Given the description of an element on the screen output the (x, y) to click on. 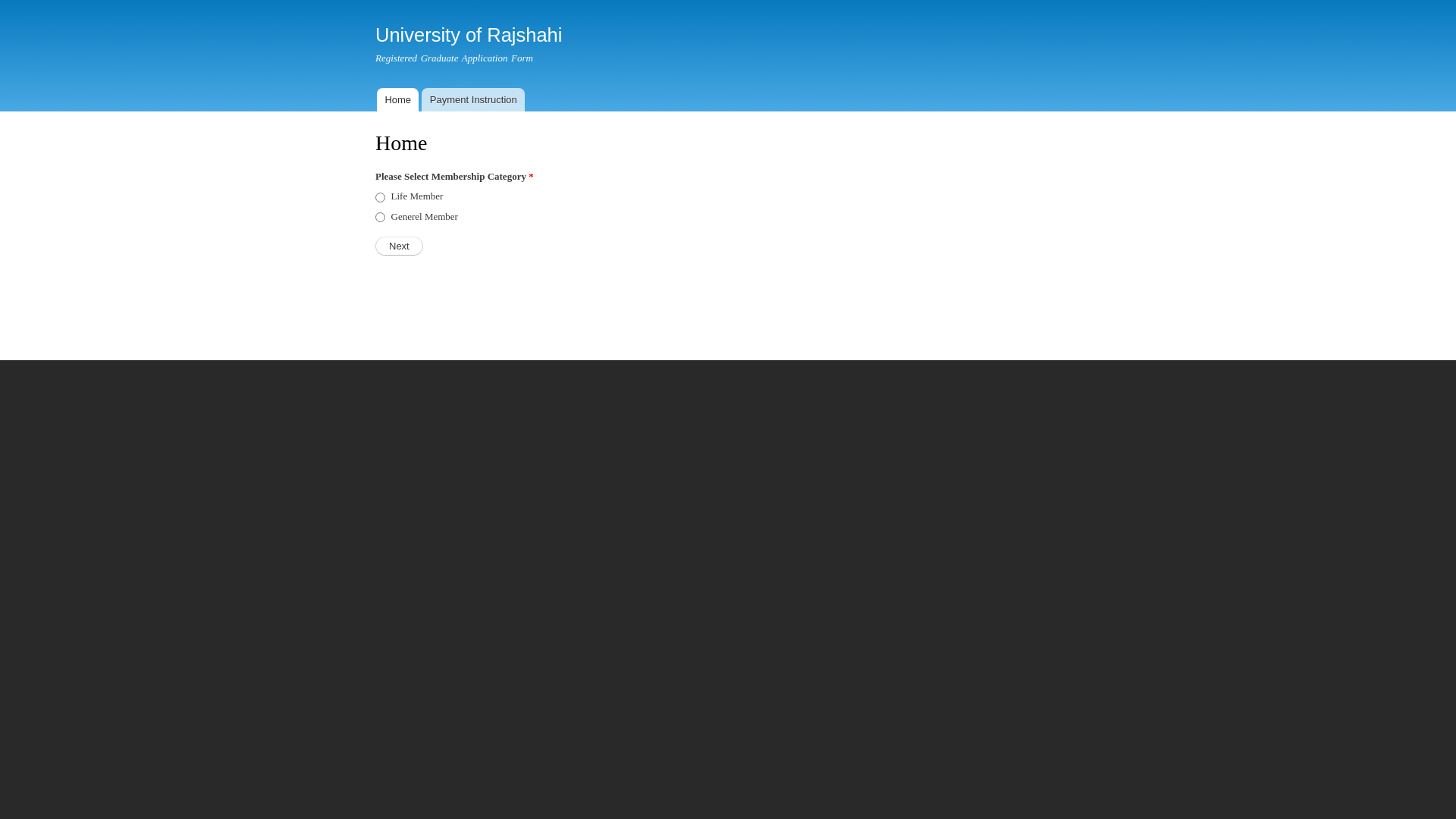
Payment Instruction Element type: text (472, 99)
Next Element type: text (399, 245)
University of Rajshahi Element type: text (468, 34)
Skip to main content Element type: text (695, 1)
Home Element type: text (397, 99)
